Given the description of an element on the screen output the (x, y) to click on. 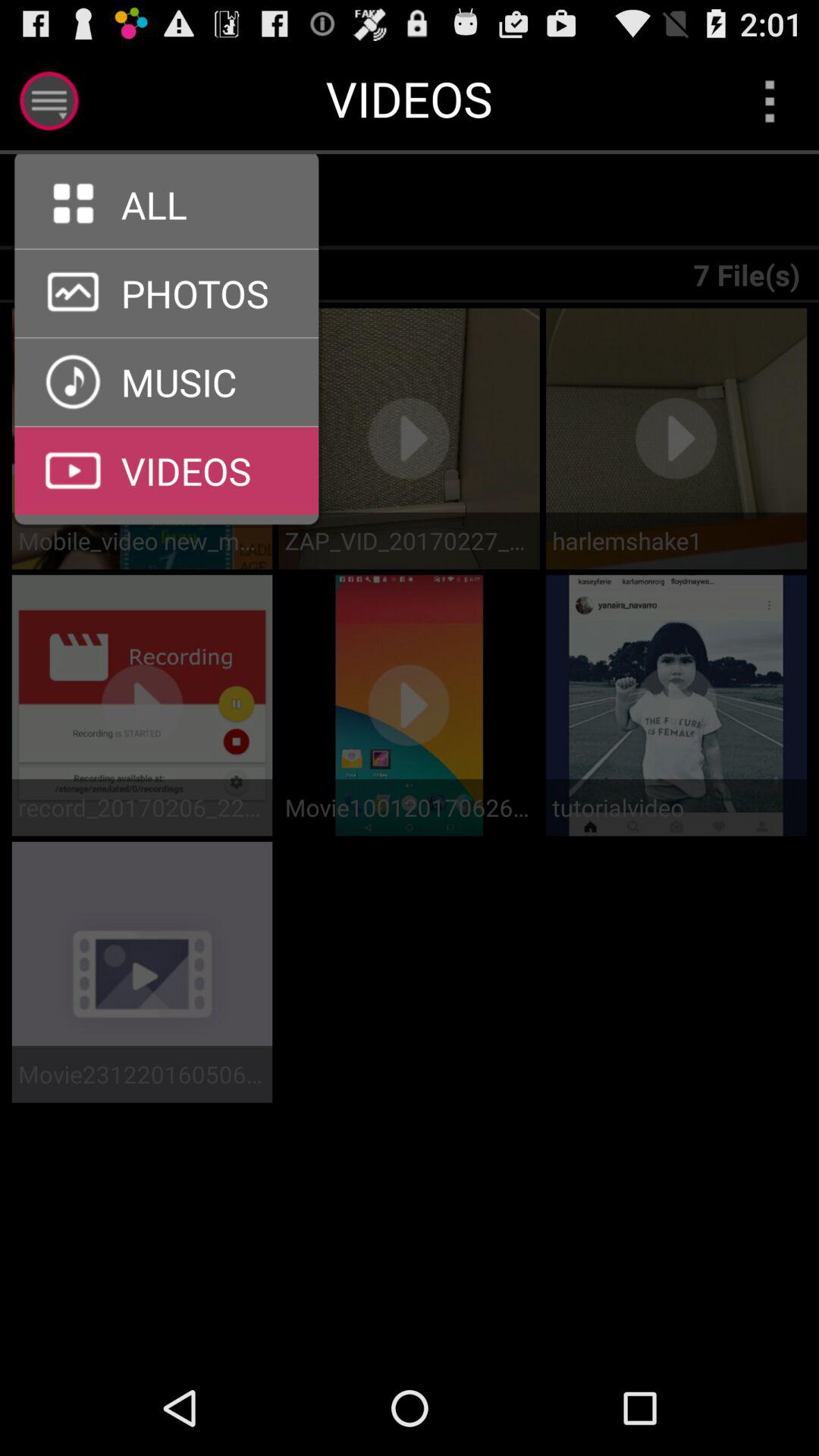
press tutorialvideo (676, 807)
